Given the description of an element on the screen output the (x, y) to click on. 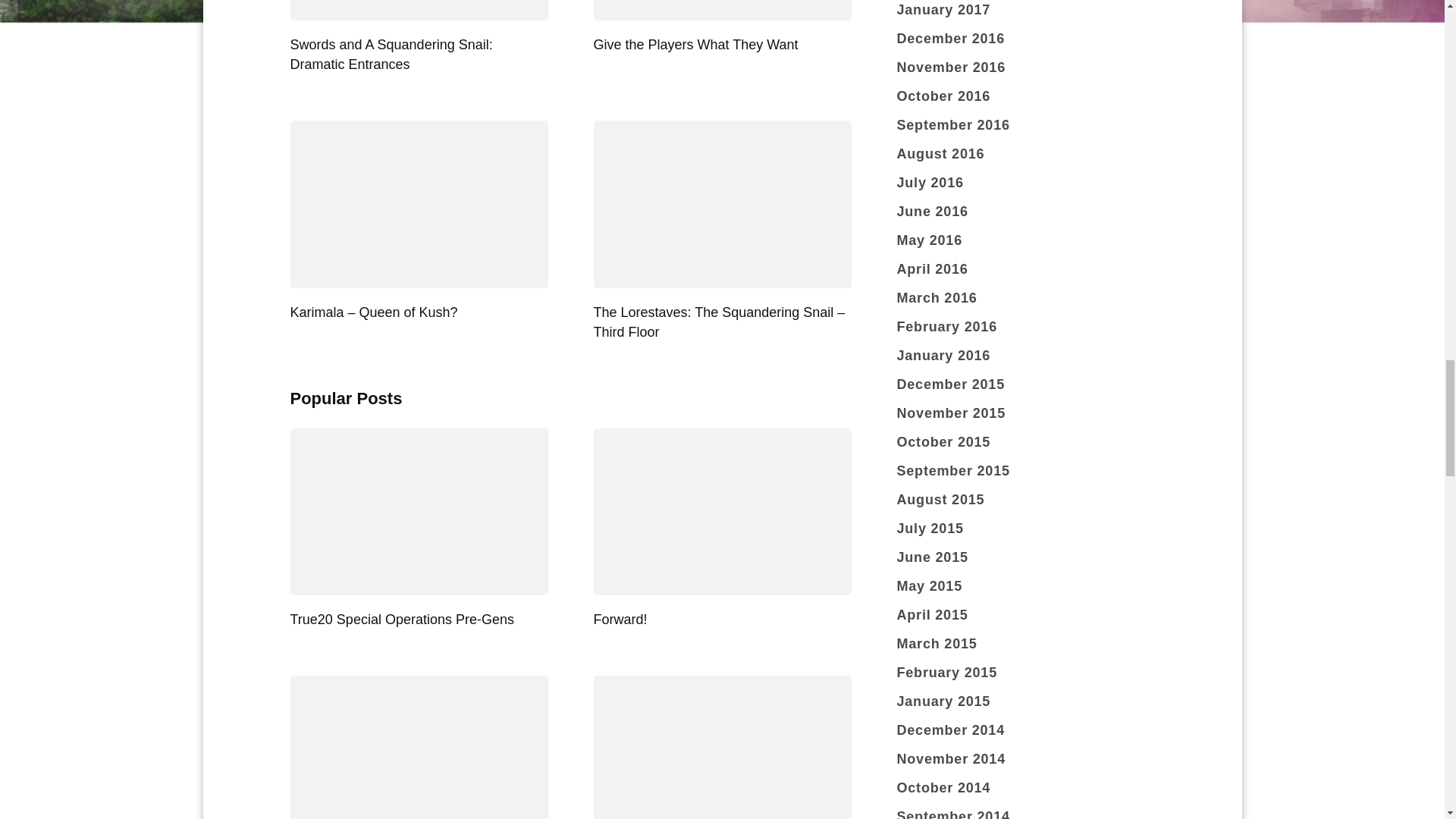
True20 Special Operations Pre-Gens (401, 619)
Forward! (619, 619)
Give the Players What They Want (694, 44)
Swords and A Squandering Snail: Dramatic Entrances (390, 54)
